Given the description of an element on the screen output the (x, y) to click on. 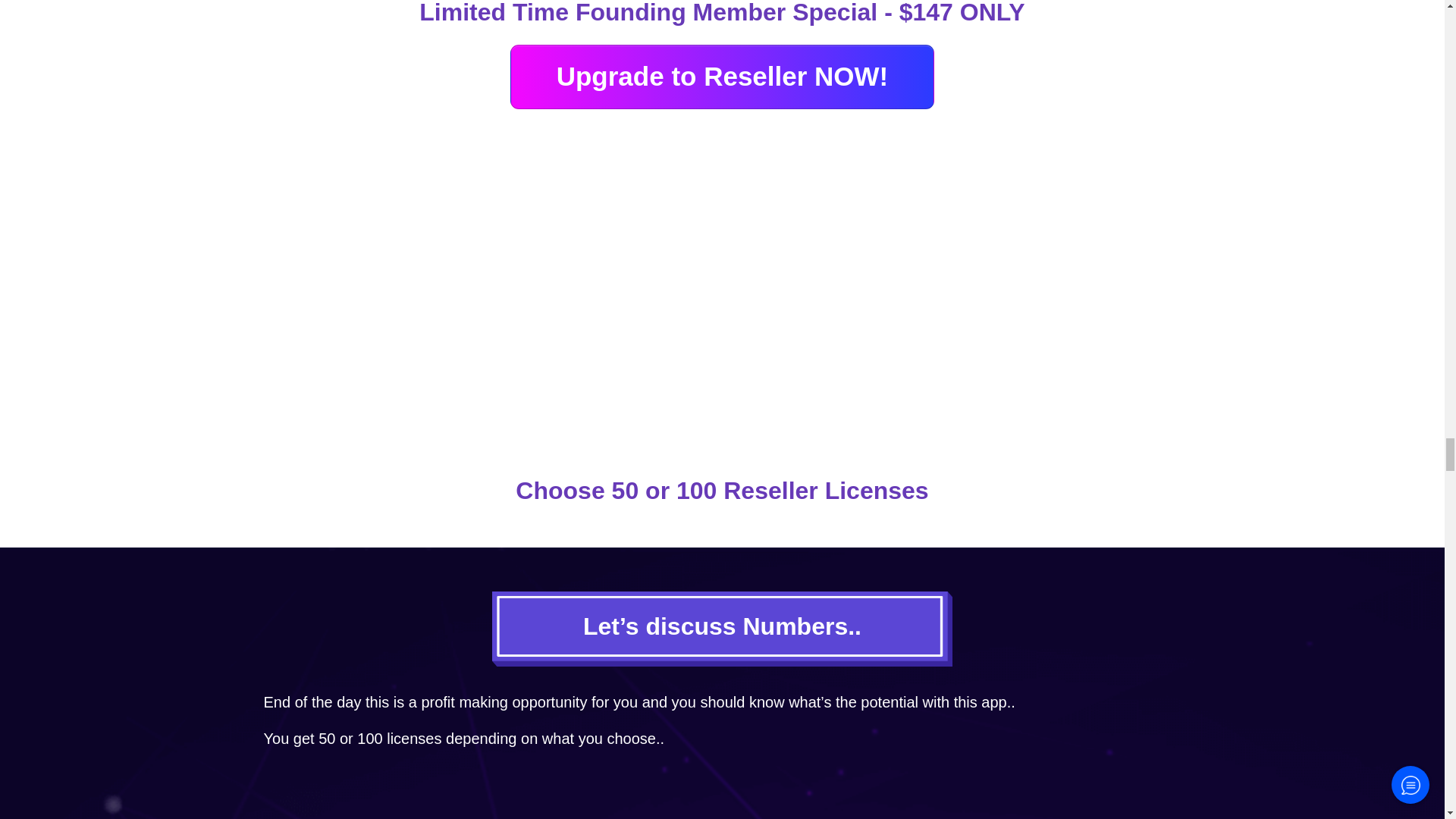
Upgrade to Reseller NOW! (722, 76)
